Given the description of an element on the screen output the (x, y) to click on. 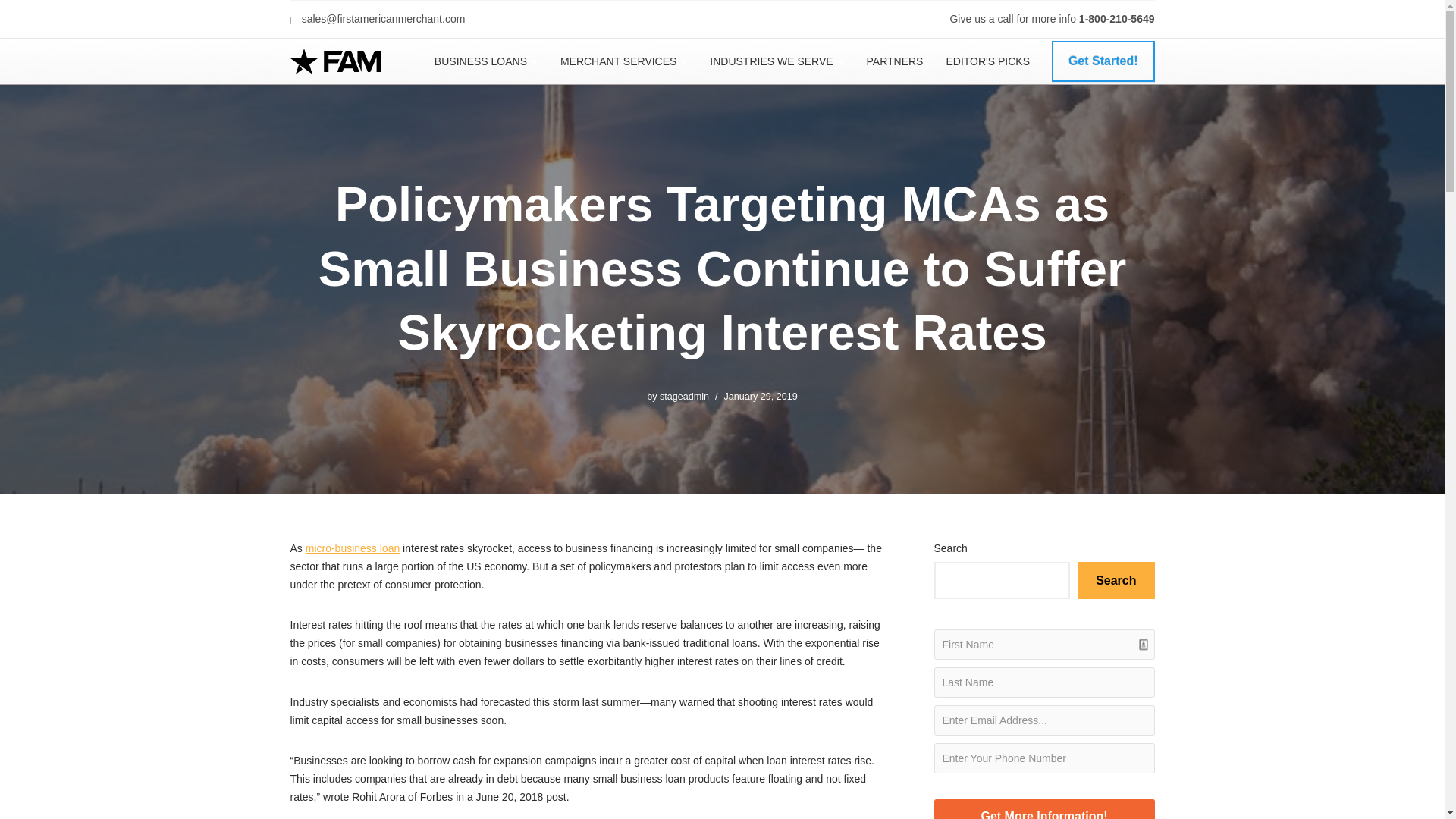
Get More Information! (1044, 809)
Posts by stageadmin (684, 396)
INDUSTRIES WE SERVE (776, 61)
BUSINESS LOANS (485, 61)
MERCHANT SERVICES (623, 61)
